Given the description of an element on the screen output the (x, y) to click on. 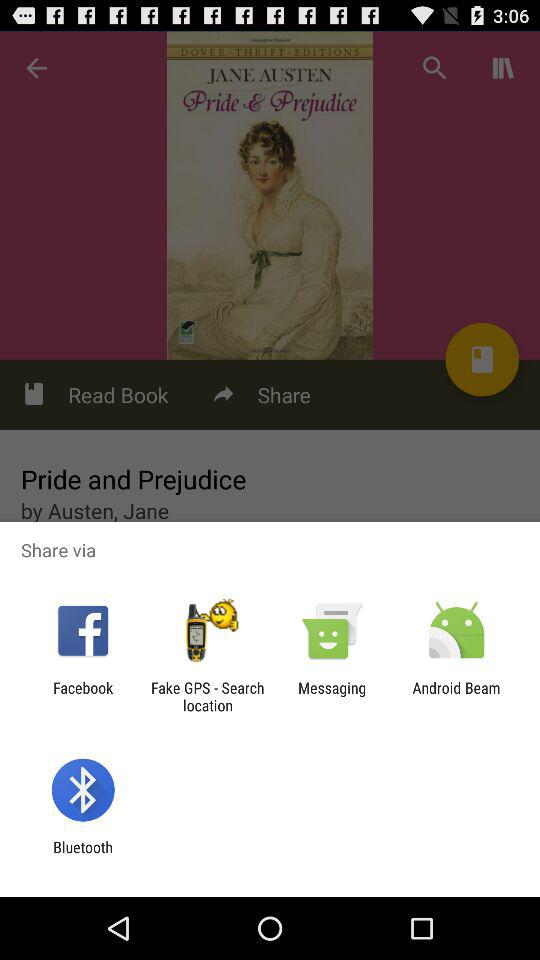
press the android beam icon (456, 696)
